Given the description of an element on the screen output the (x, y) to click on. 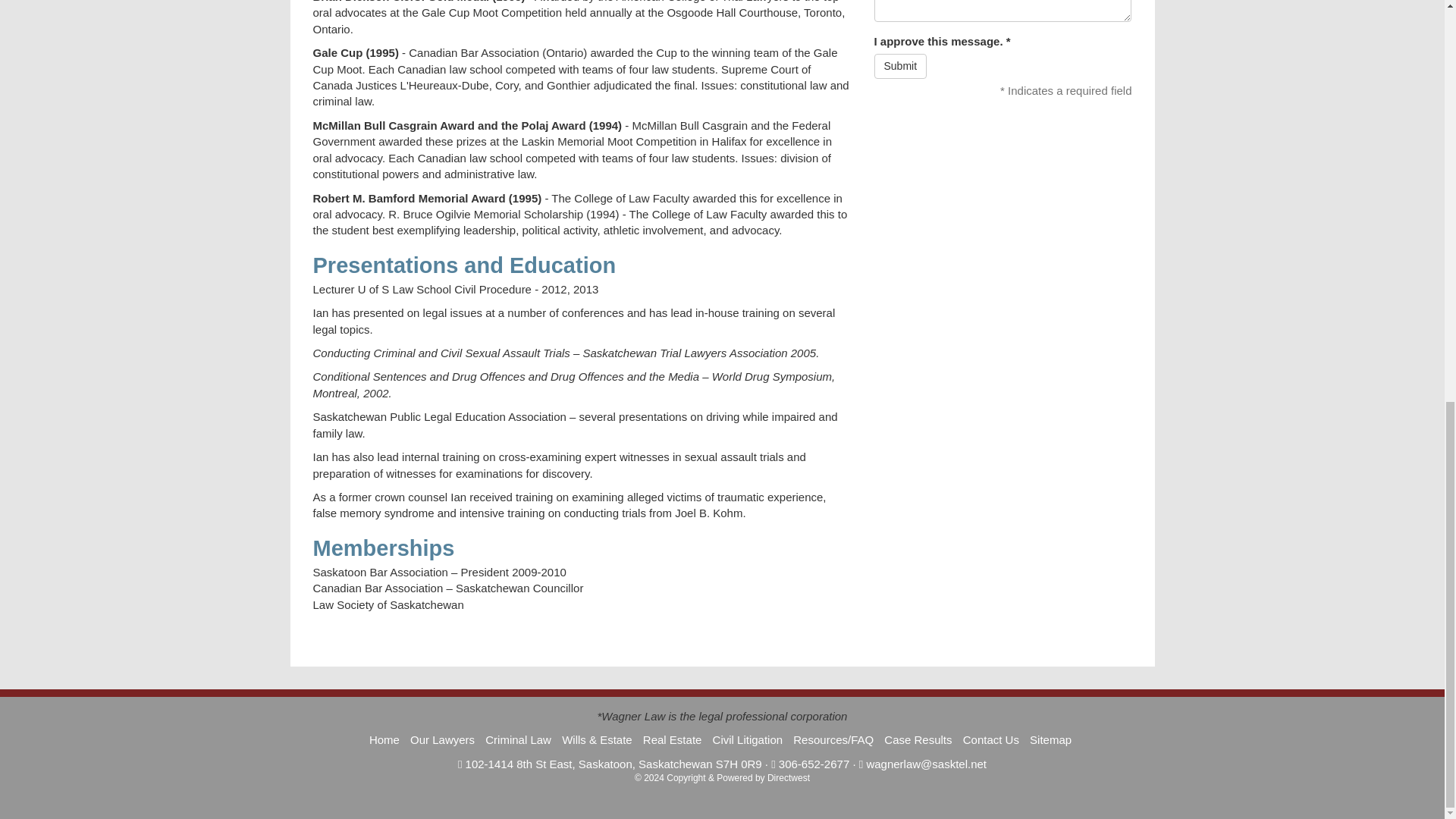
Our Lawyers (442, 739)
Criminal Law (517, 739)
Home (383, 739)
Contact Us (990, 739)
Submit (899, 65)
Sitemap (1050, 739)
Case Results (917, 739)
Real Estate (672, 739)
Submit (899, 65)
Civil Litigation (748, 739)
